Given the description of an element on the screen output the (x, y) to click on. 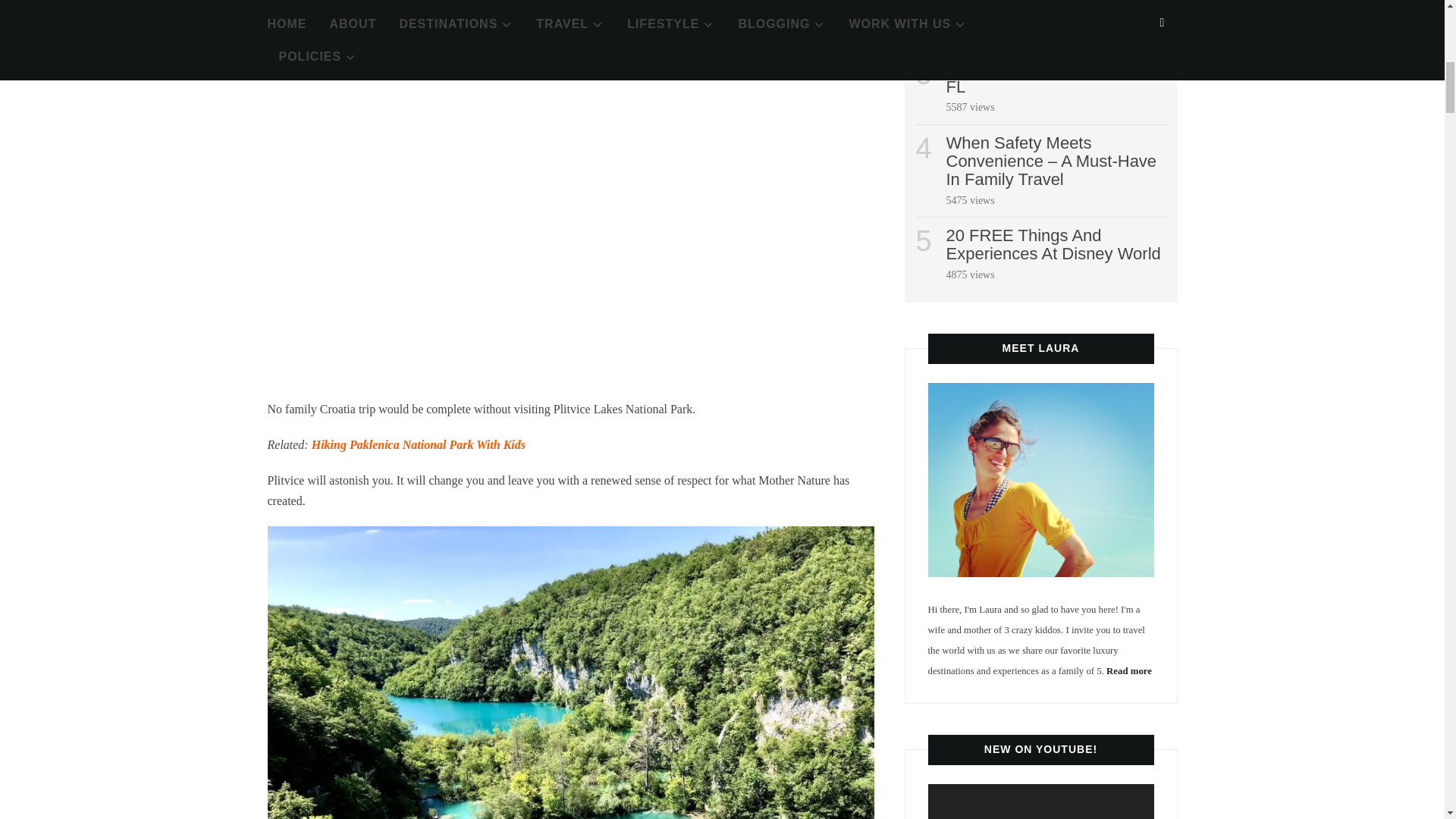
Permanent Link to 10 Day Trips From Orlando, FL (1048, 77)
Posts by Laura (335, 12)
